Given the description of an element on the screen output the (x, y) to click on. 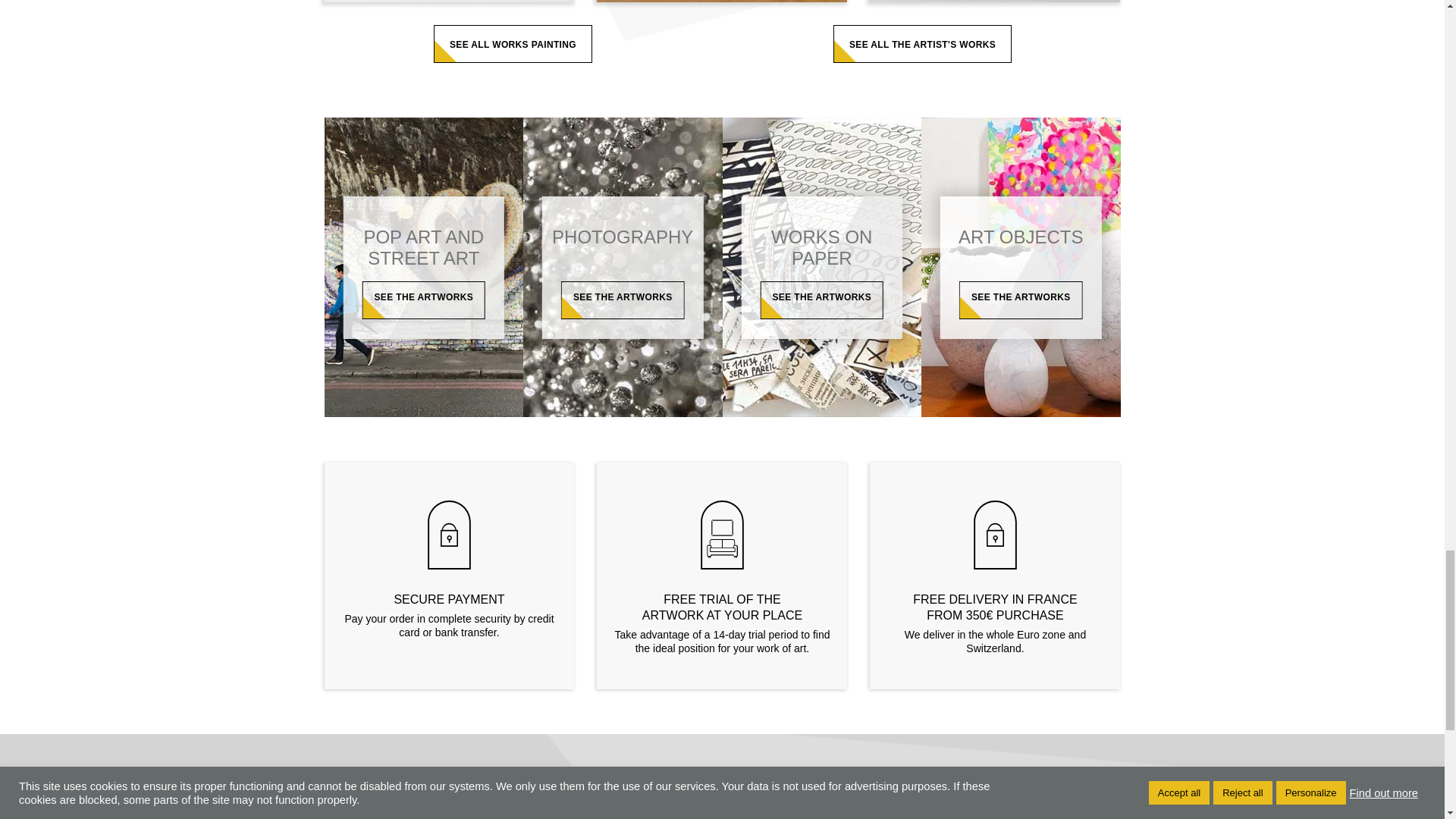
Sign up (1086, 810)
